Given the description of an element on the screen output the (x, y) to click on. 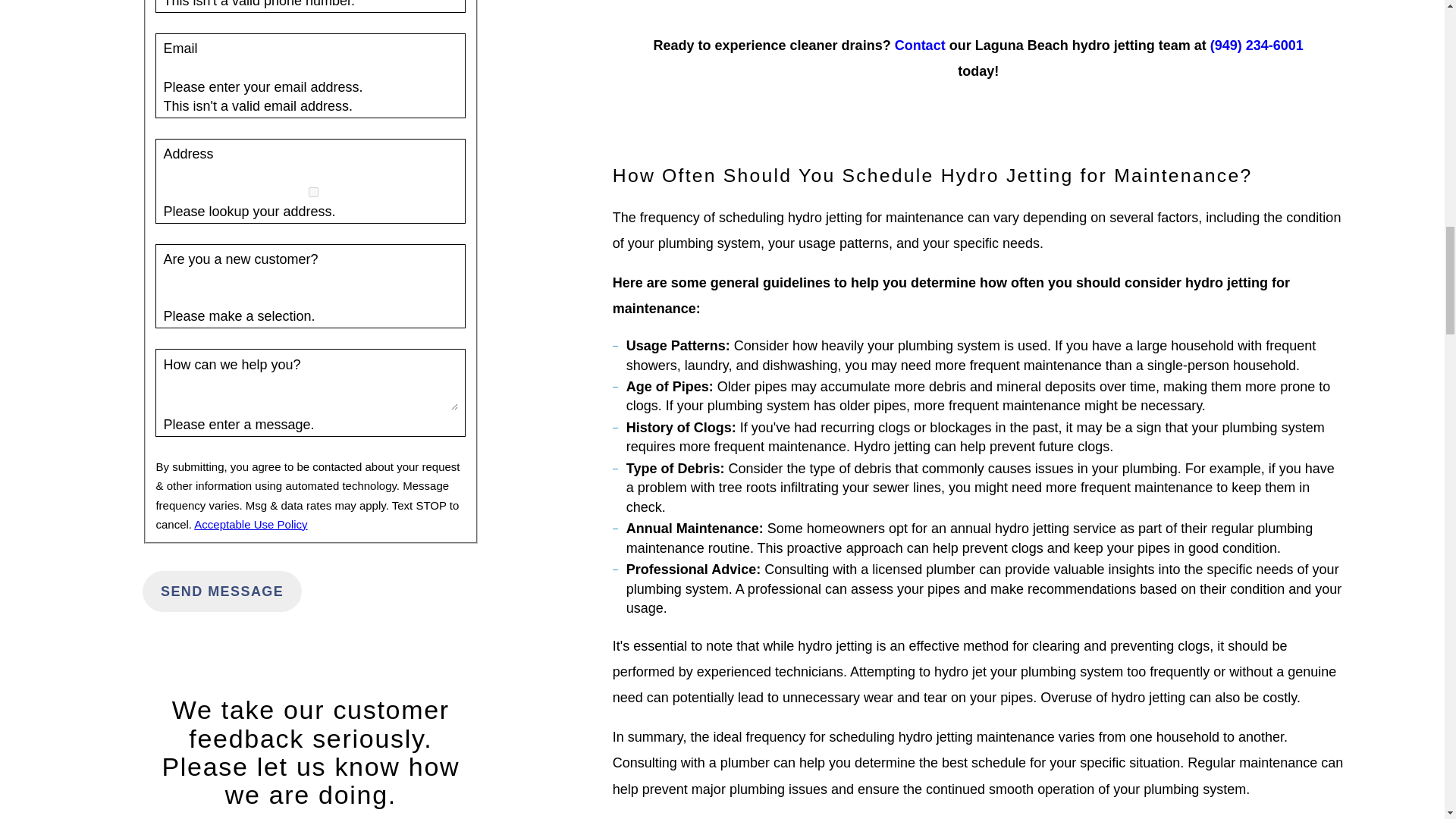
on (313, 192)
